Given the description of an element on the screen output the (x, y) to click on. 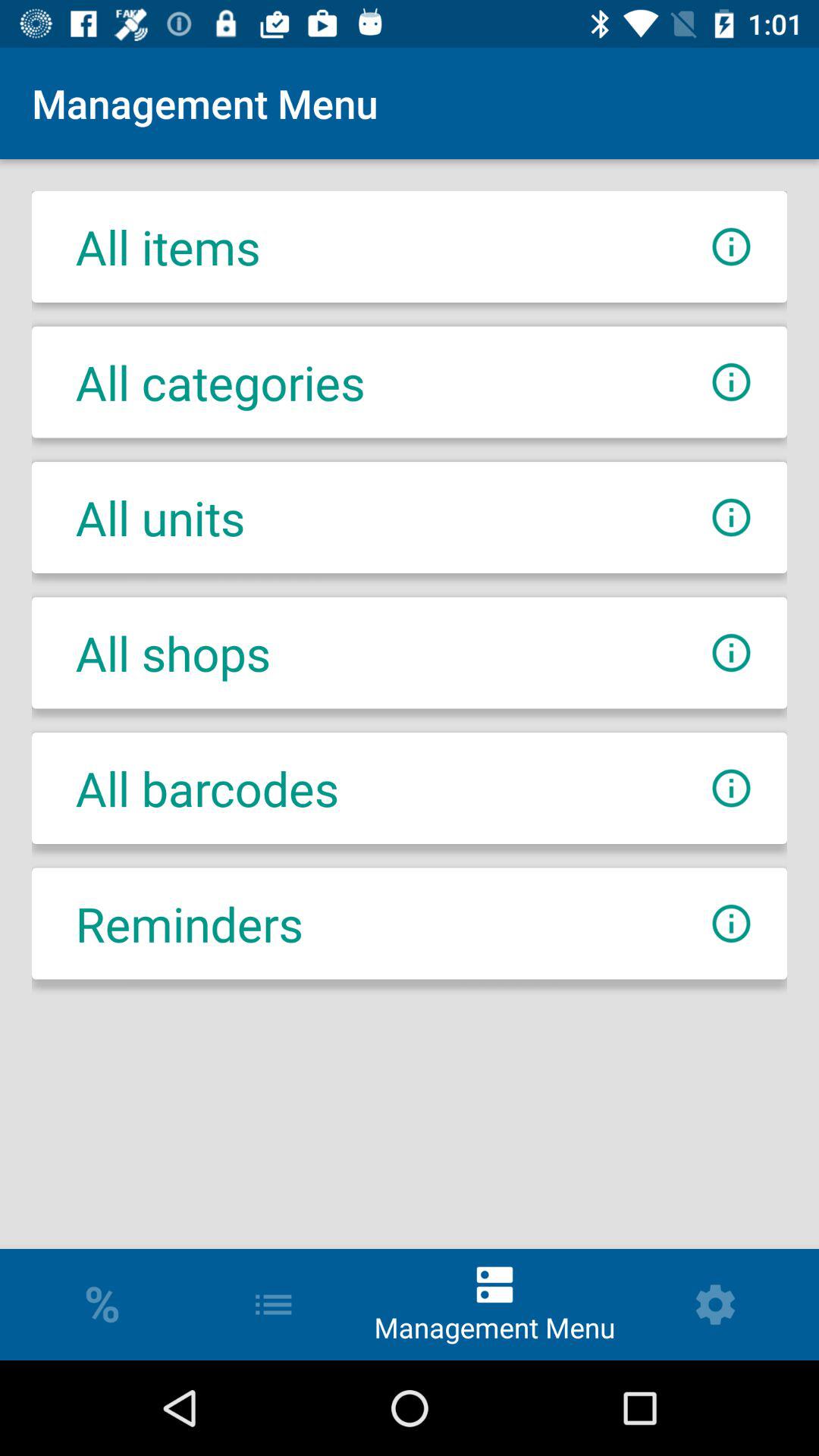
search all barcodes (731, 788)
